Given the description of an element on the screen output the (x, y) to click on. 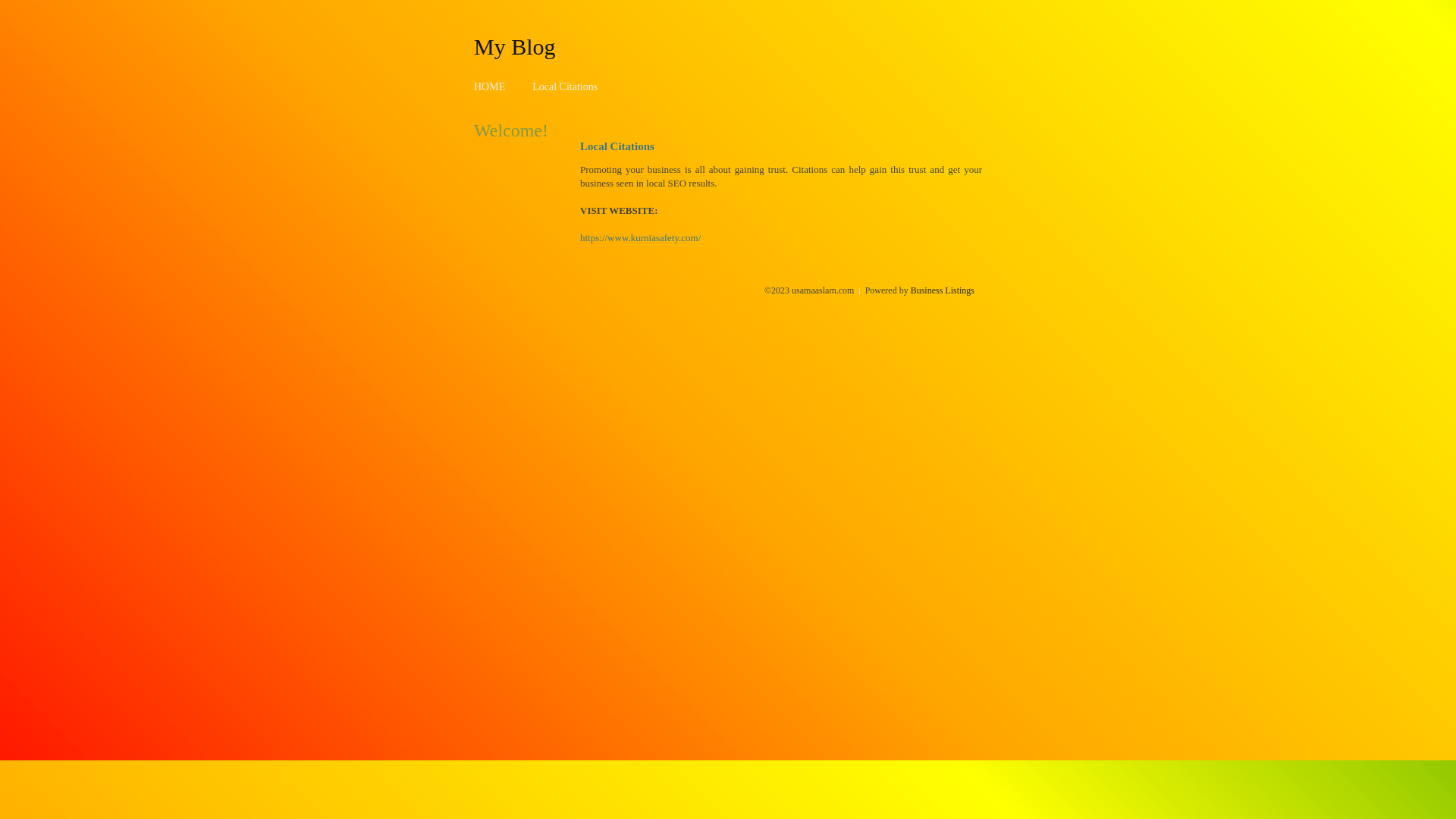
HOME Element type: text (489, 86)
Business Listings Element type: text (942, 290)
My Blog Element type: text (514, 46)
Local Citations Element type: text (564, 86)
https://www.kurniasafety.com/ Element type: text (640, 237)
